Given the description of an element on the screen output the (x, y) to click on. 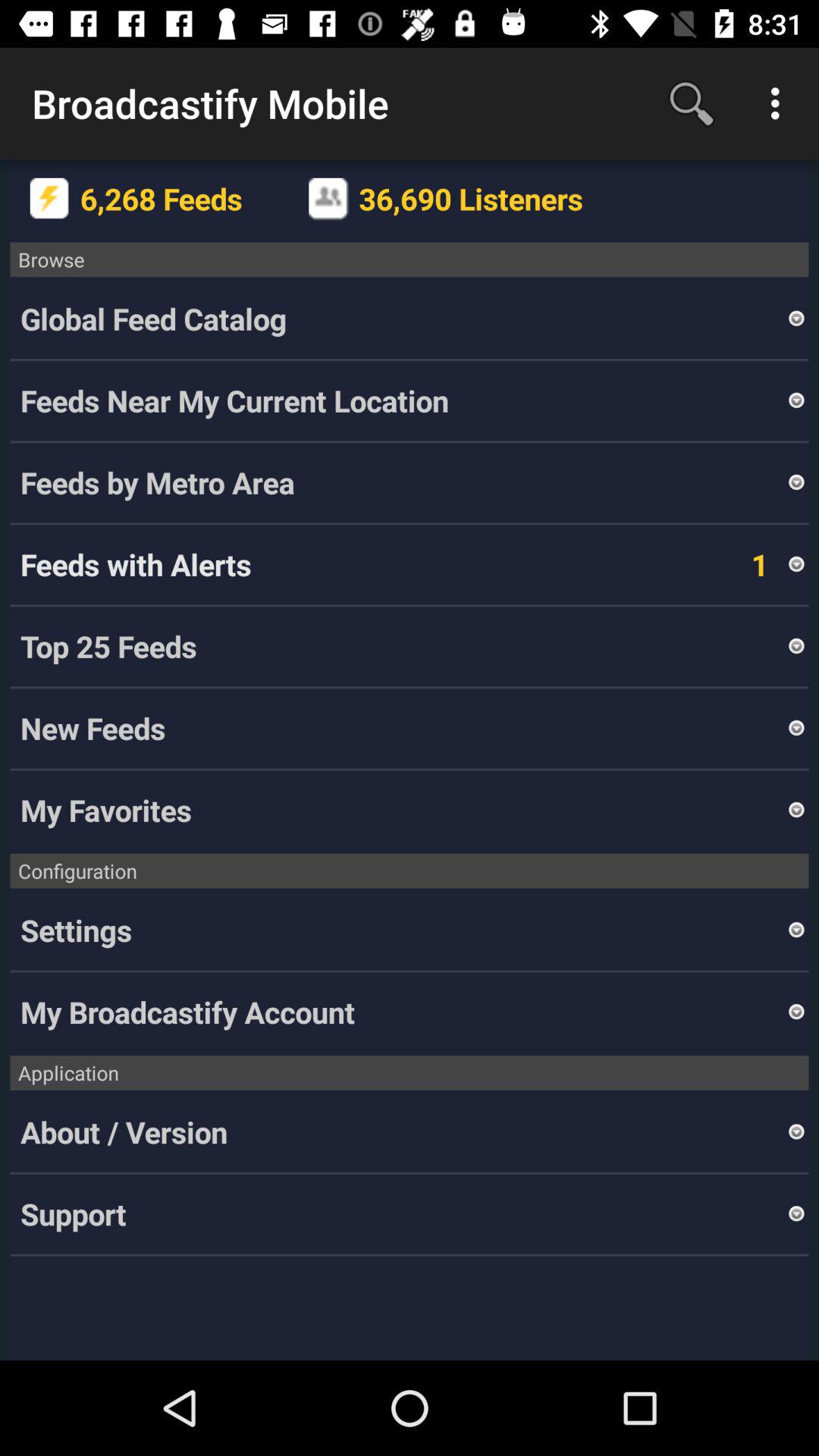
click the icon to the right of the broadcastify mobile (691, 103)
